Given the description of an element on the screen output the (x, y) to click on. 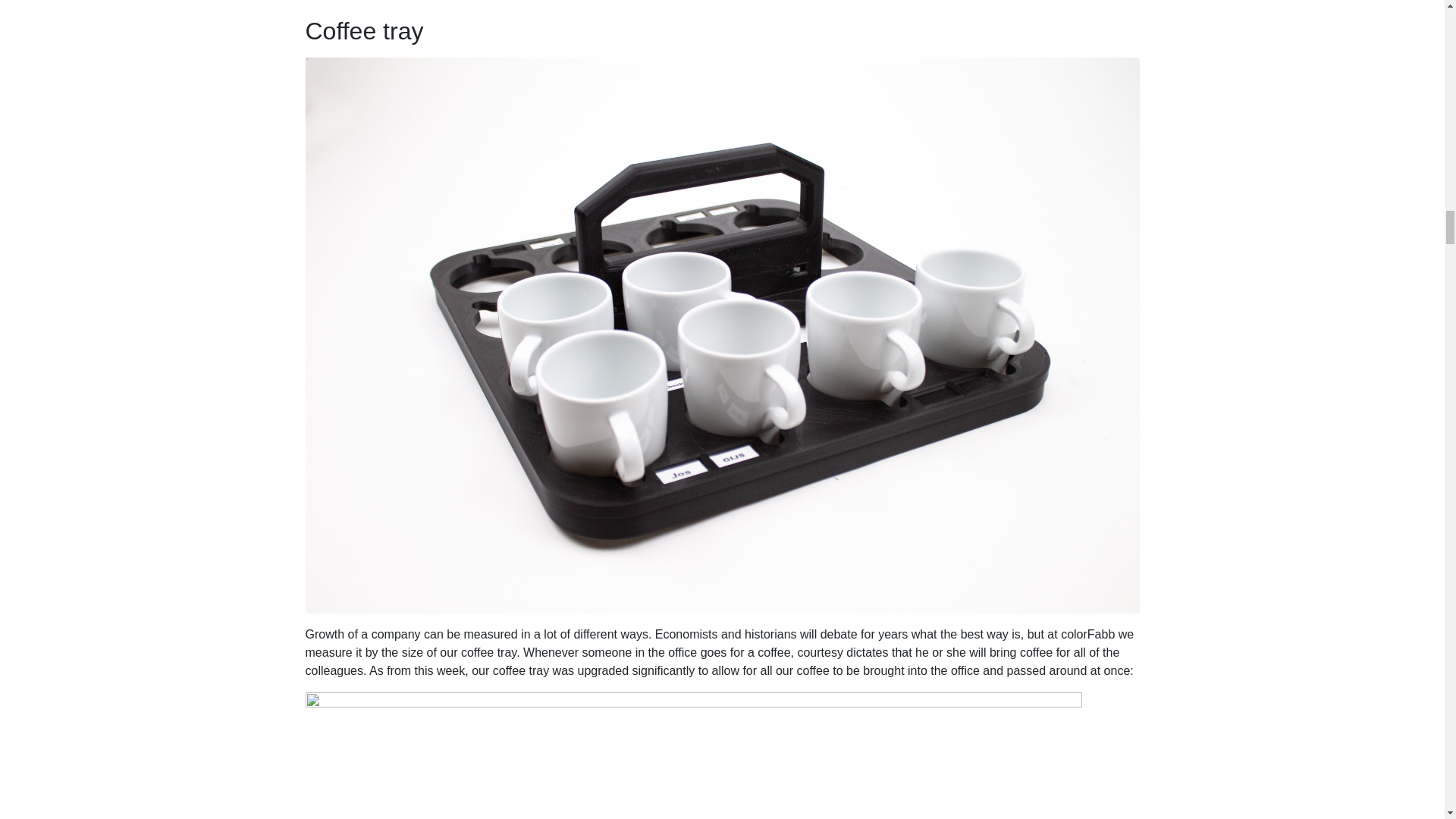
Coffee tray (721, 334)
Coffee tray (363, 31)
Coffee tray (363, 31)
